Given the description of an element on the screen output the (x, y) to click on. 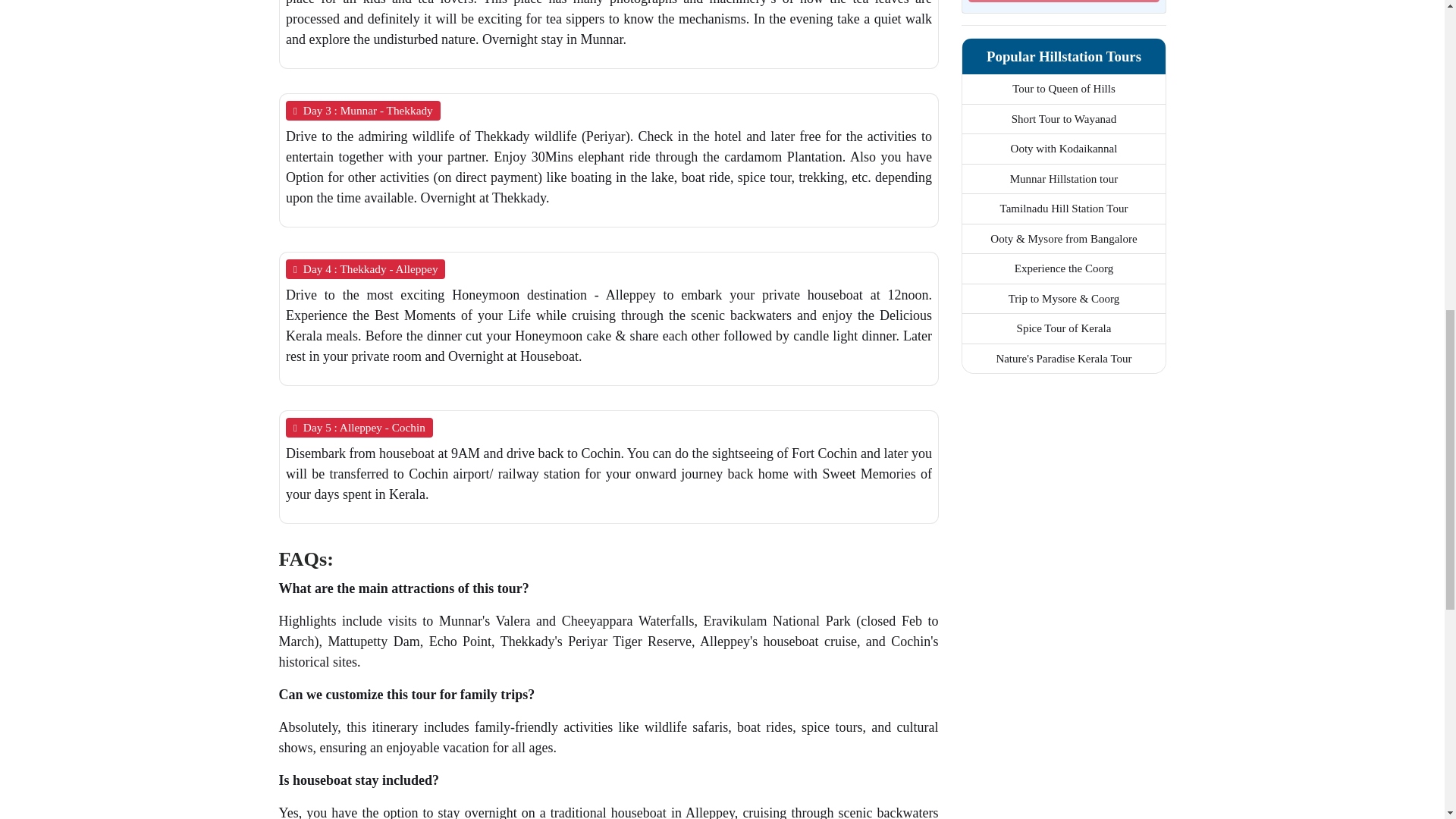
SUBMIT (1063, 1)
Short Tour to Wayanad (1062, 119)
Day 3 : Munnar - Thekkady (362, 110)
Day 5 : Alleppey - Cochin (358, 426)
Day 4 : Thekkady - Alleppey (364, 269)
Tour to Queen of Hills (1063, 89)
Ooty with Kodaikannal (1063, 149)
